Given the description of an element on the screen output the (x, y) to click on. 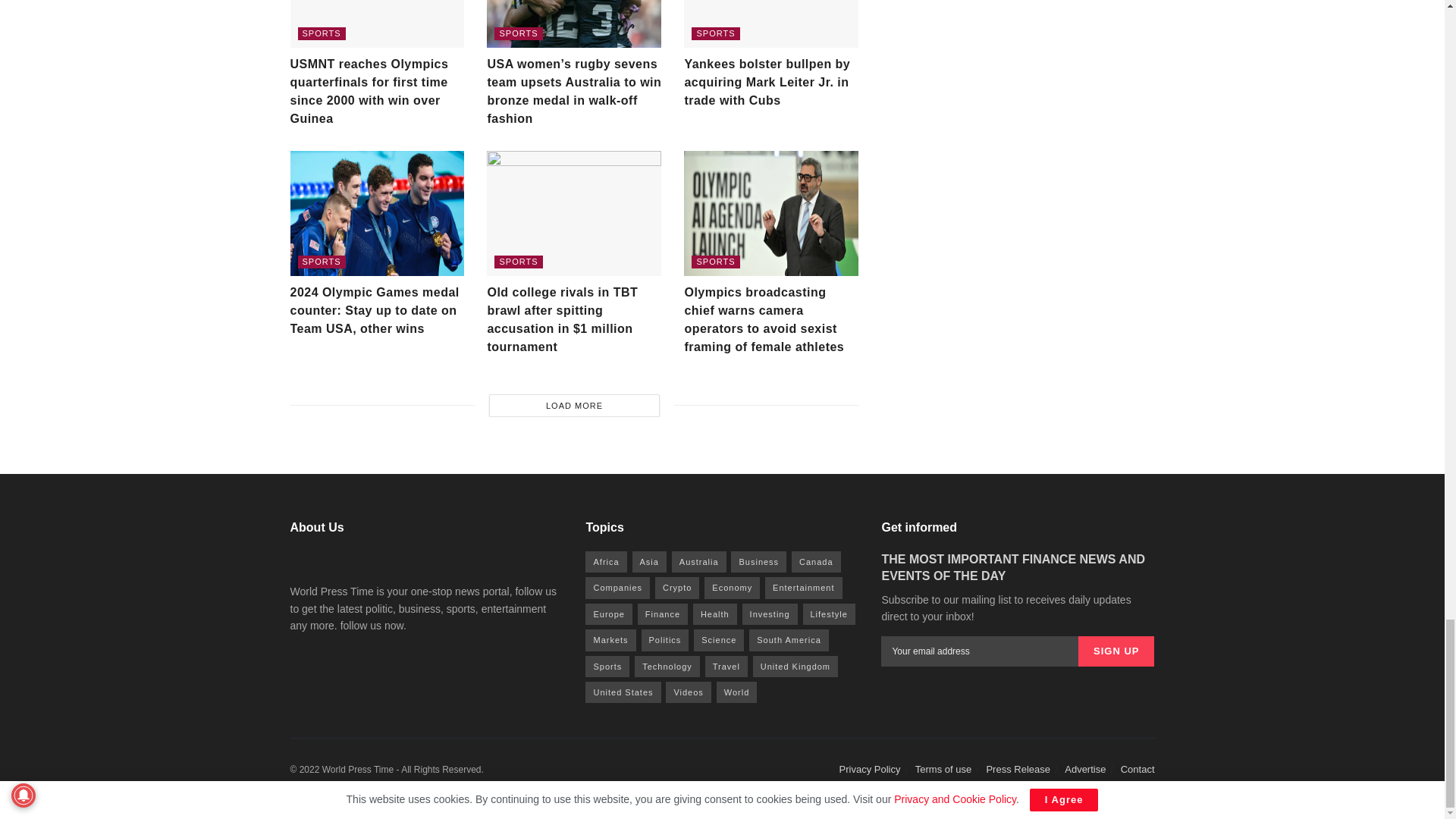
Sign up (1116, 651)
